Given the description of an element on the screen output the (x, y) to click on. 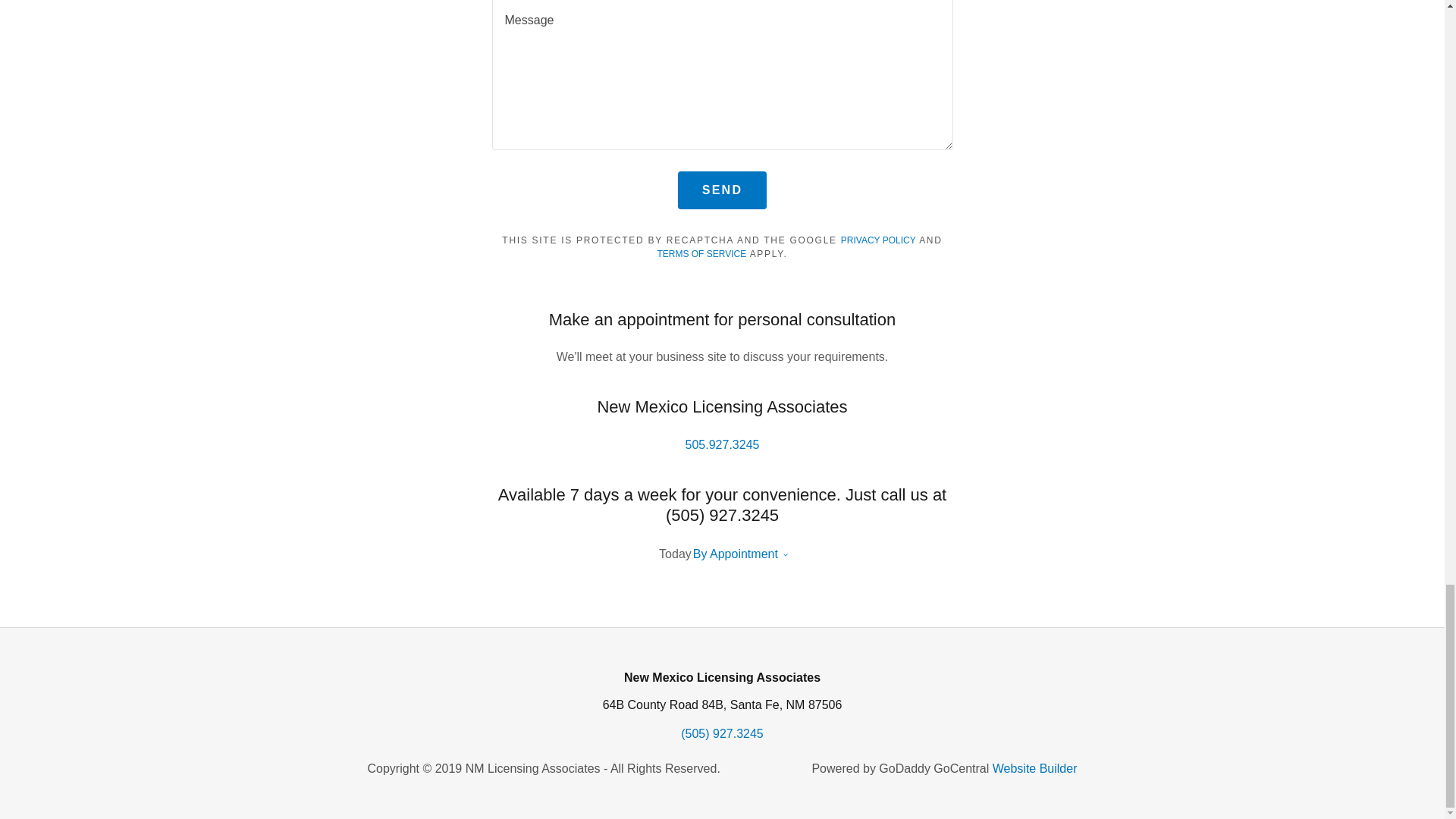
PRIVACY POLICY (878, 240)
SEND (722, 190)
By Appointment (735, 553)
Website Builder (1034, 768)
505.927.3245 (722, 444)
TERMS OF SERVICE (700, 253)
